Given the description of an element on the screen output the (x, y) to click on. 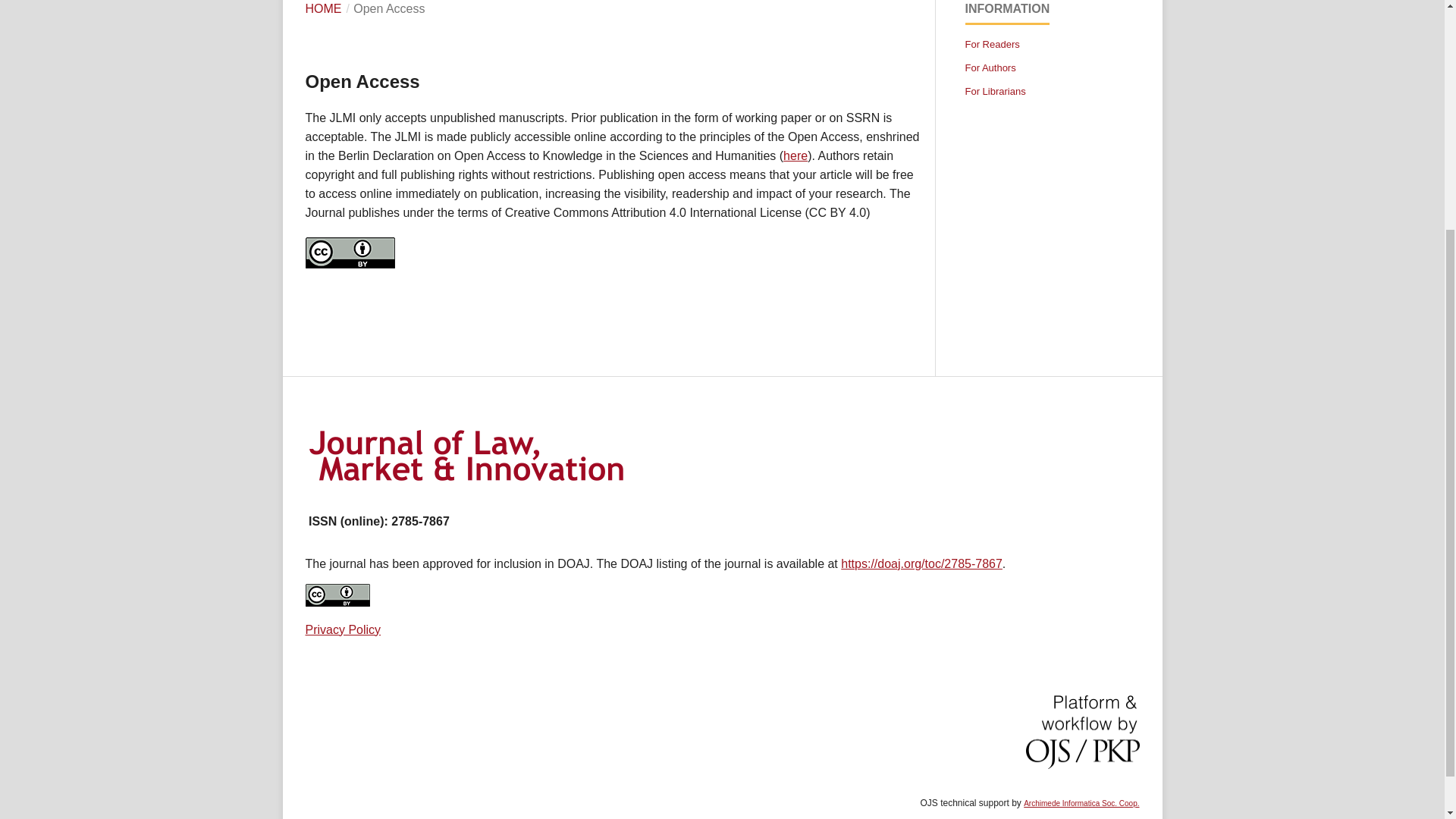
Archimede Informatica Soc. Coop. (1080, 803)
Privacy Policy (342, 629)
HOME (322, 8)
For Librarians (994, 91)
For Readers (991, 43)
For Authors (988, 67)
here (795, 155)
